Given the description of an element on the screen output the (x, y) to click on. 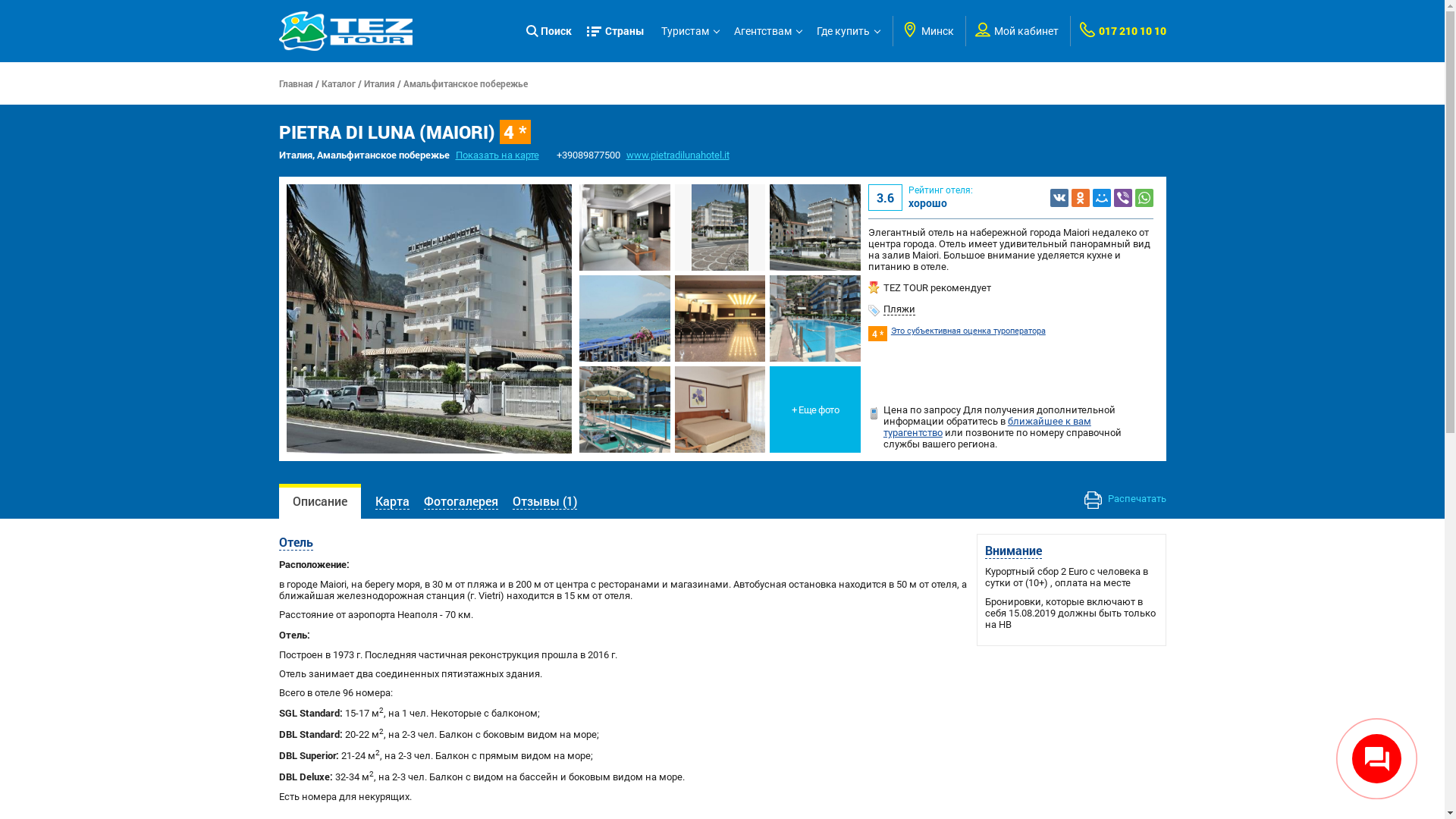
WhatsApp Element type: hover (1144, 197)
www.pietradilunahotel.it Element type: text (677, 154)
Viber Element type: hover (1122, 197)
